Given the description of an element on the screen output the (x, y) to click on. 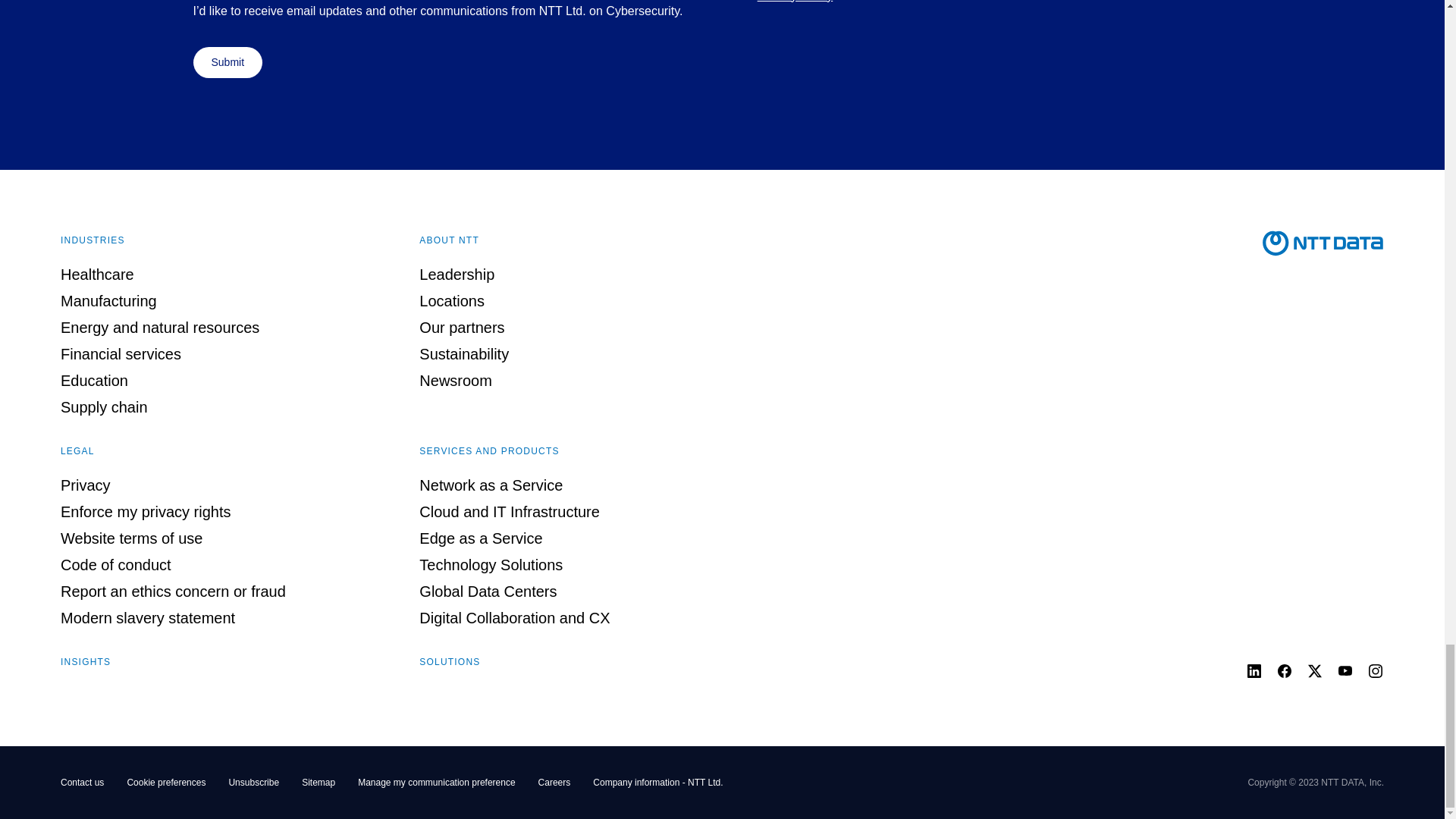
Submit (227, 61)
